Given the description of an element on the screen output the (x, y) to click on. 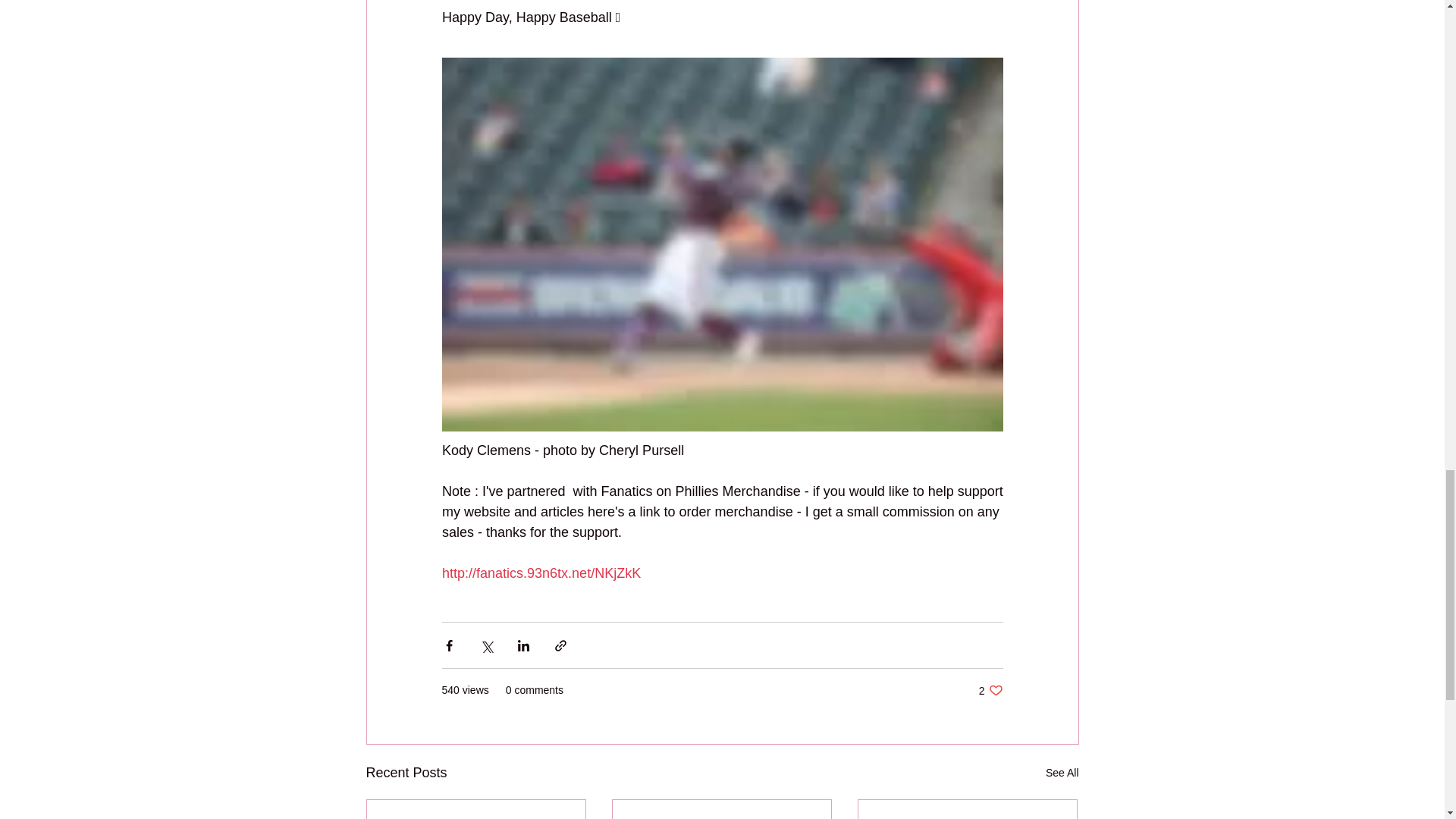
See All (990, 690)
